Given the description of an element on the screen output the (x, y) to click on. 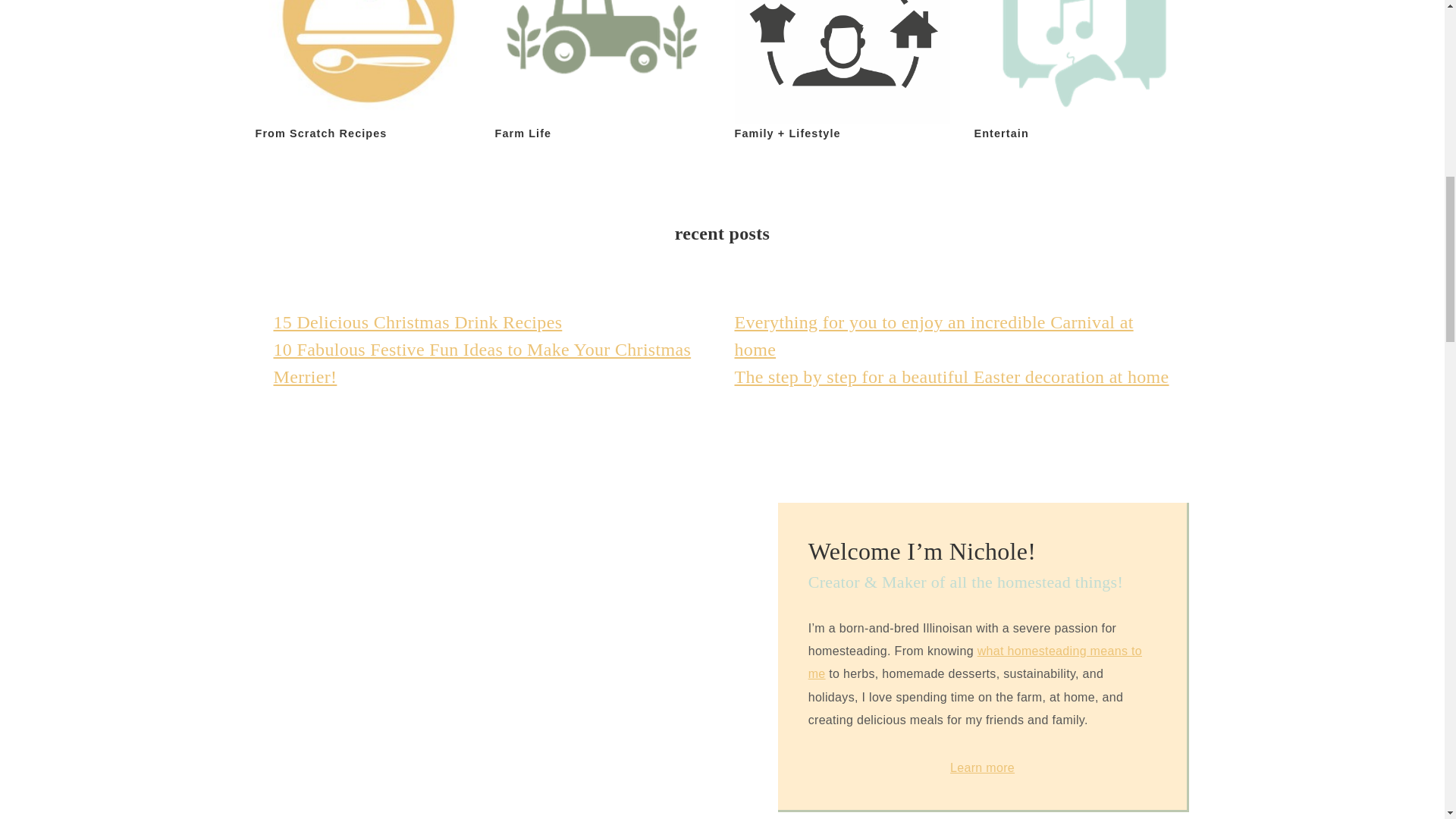
From Scratch Recipes (362, 72)
what homesteading means to me (974, 662)
Everything for you to enjoy an incredible Carnival at home (932, 335)
Learn more (982, 767)
15 Delicious Christmas Drink Recipes (417, 322)
Entertain (1081, 72)
The step by step for a beautiful Easter decoration at home (951, 376)
Farm Life (602, 72)
